Given the description of an element on the screen output the (x, y) to click on. 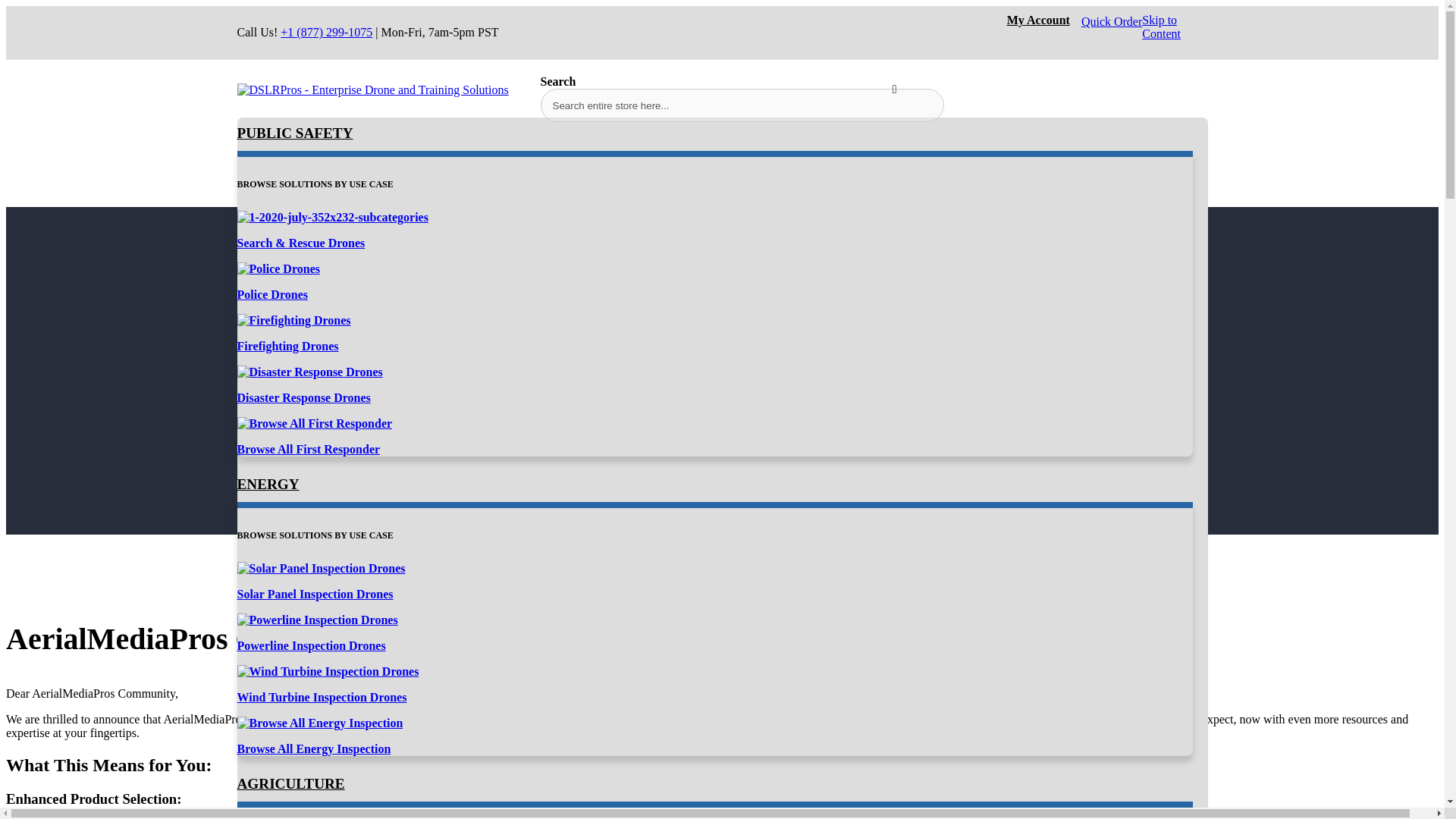
Disaster Response Drones (308, 372)
AGRICULTURE (289, 783)
Police Drones (271, 294)
Browse All Energy Inspection (312, 748)
Quick Order (1111, 21)
Browse All First Responder (307, 449)
Police Drones (276, 269)
Powerline Inspection Drones (310, 645)
Wind Turbine Inspection Drones (327, 671)
Disaster Response Drones (302, 397)
